Given the description of an element on the screen output the (x, y) to click on. 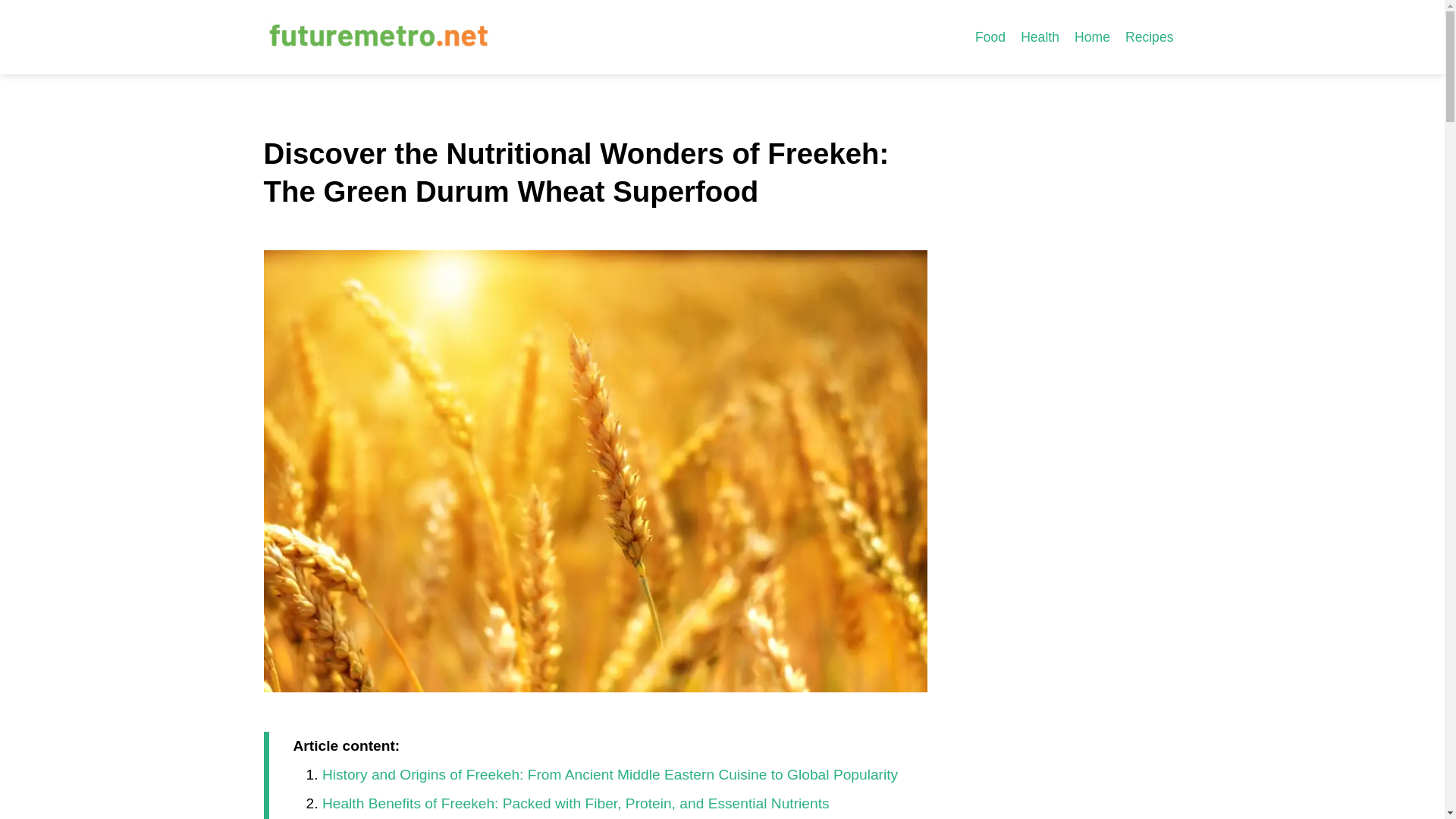
Health (1040, 36)
Home (1092, 36)
Recipes (1149, 36)
Food (990, 36)
